Given the description of an element on the screen output the (x, y) to click on. 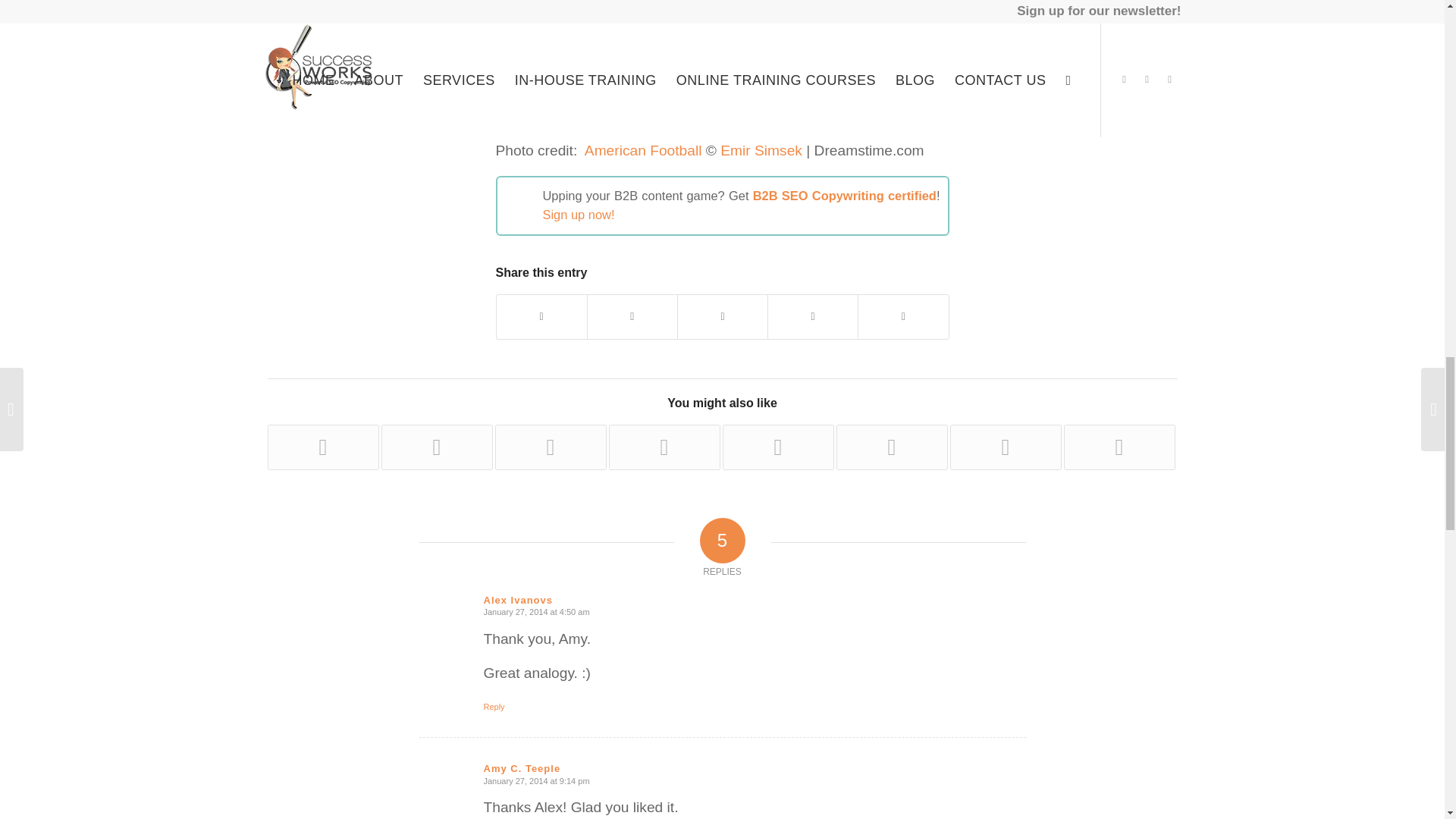
American Football (643, 150)
Emir Simsek (761, 150)
Social media plan (575, 24)
B2B SEO Copywriting certification page (578, 214)
American Football (643, 150)
Sign up now! (578, 214)
